Given the description of an element on the screen output the (x, y) to click on. 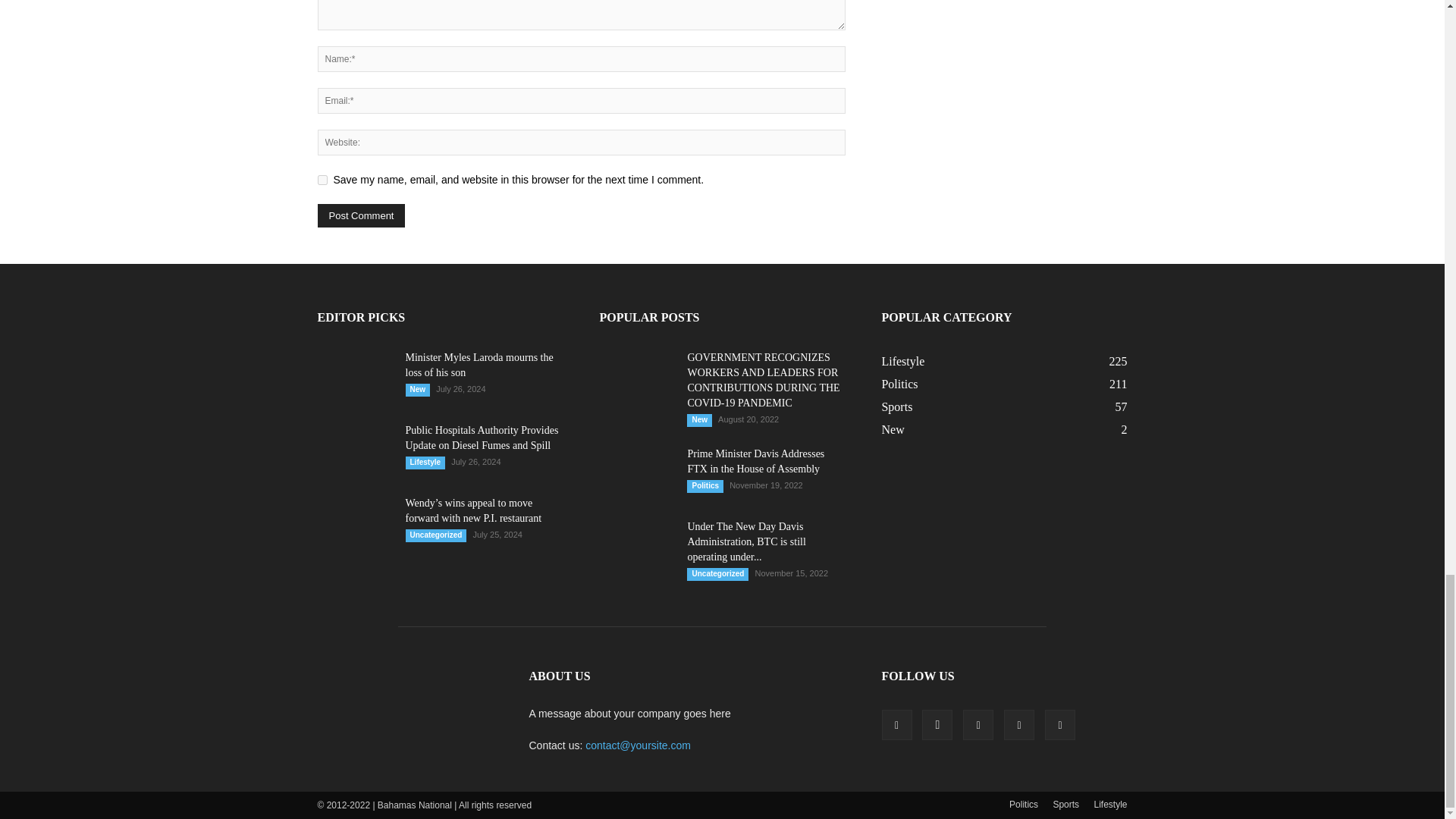
Post Comment (360, 215)
yes (321, 180)
